Given the description of an element on the screen output the (x, y) to click on. 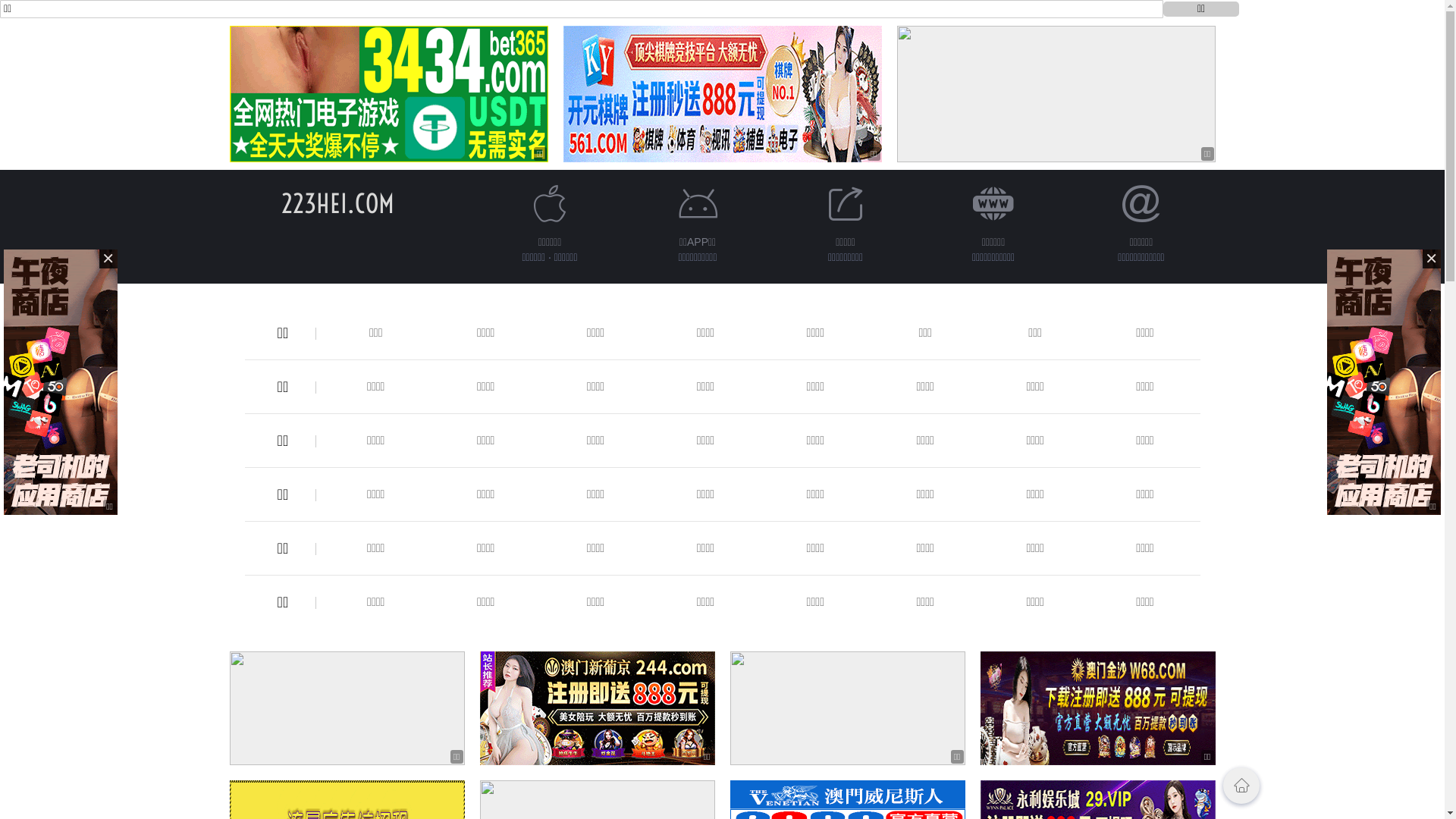
223HEI.COM Element type: text (337, 203)
